Given the description of an element on the screen output the (x, y) to click on. 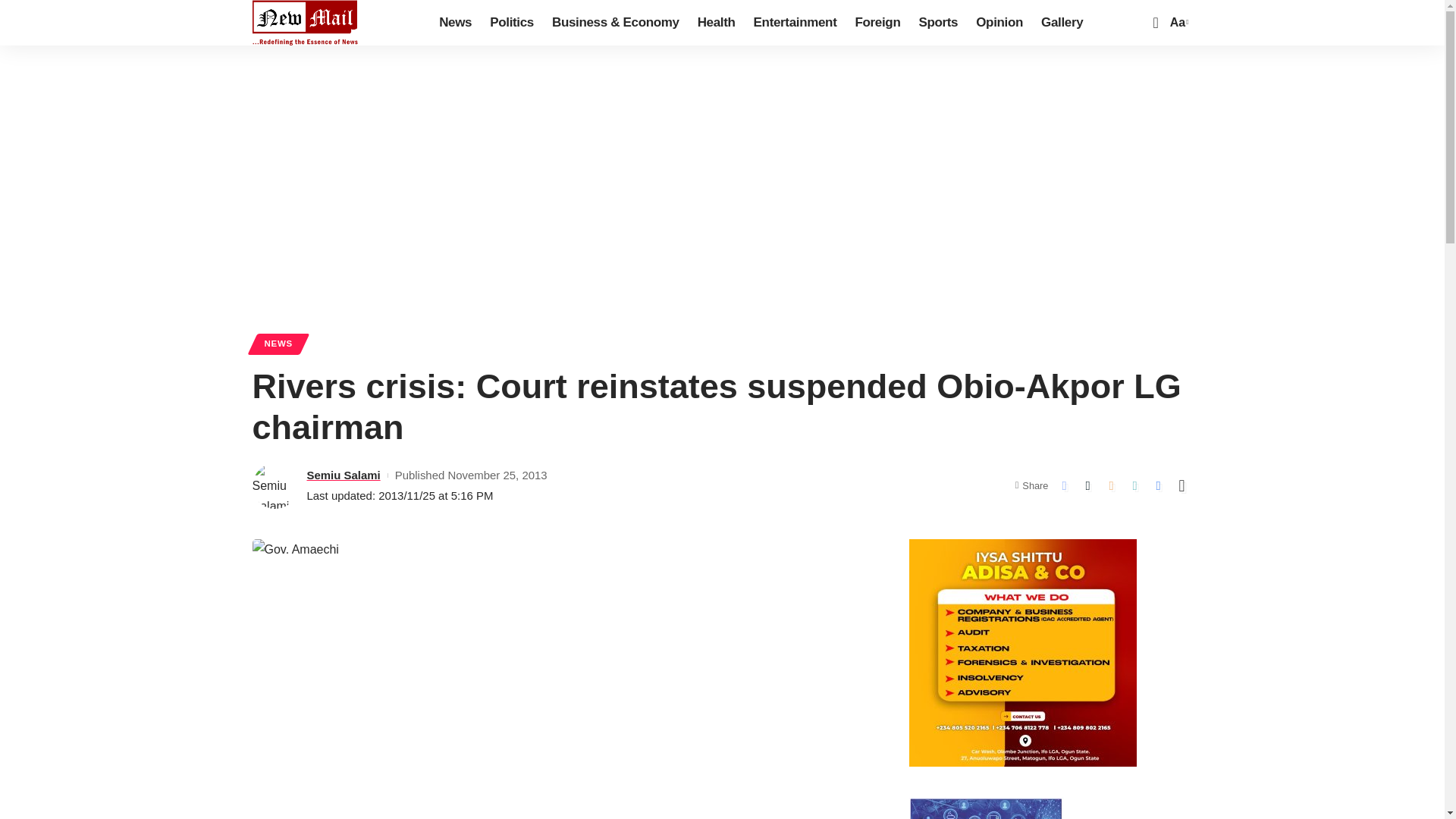
Health (716, 22)
Aa (1177, 22)
Opinion (999, 22)
Foreign (876, 22)
Sports (937, 22)
Entertainment (794, 22)
Gallery (1062, 22)
News (454, 22)
New Mail Nigeria (304, 22)
